Given the description of an element on the screen output the (x, y) to click on. 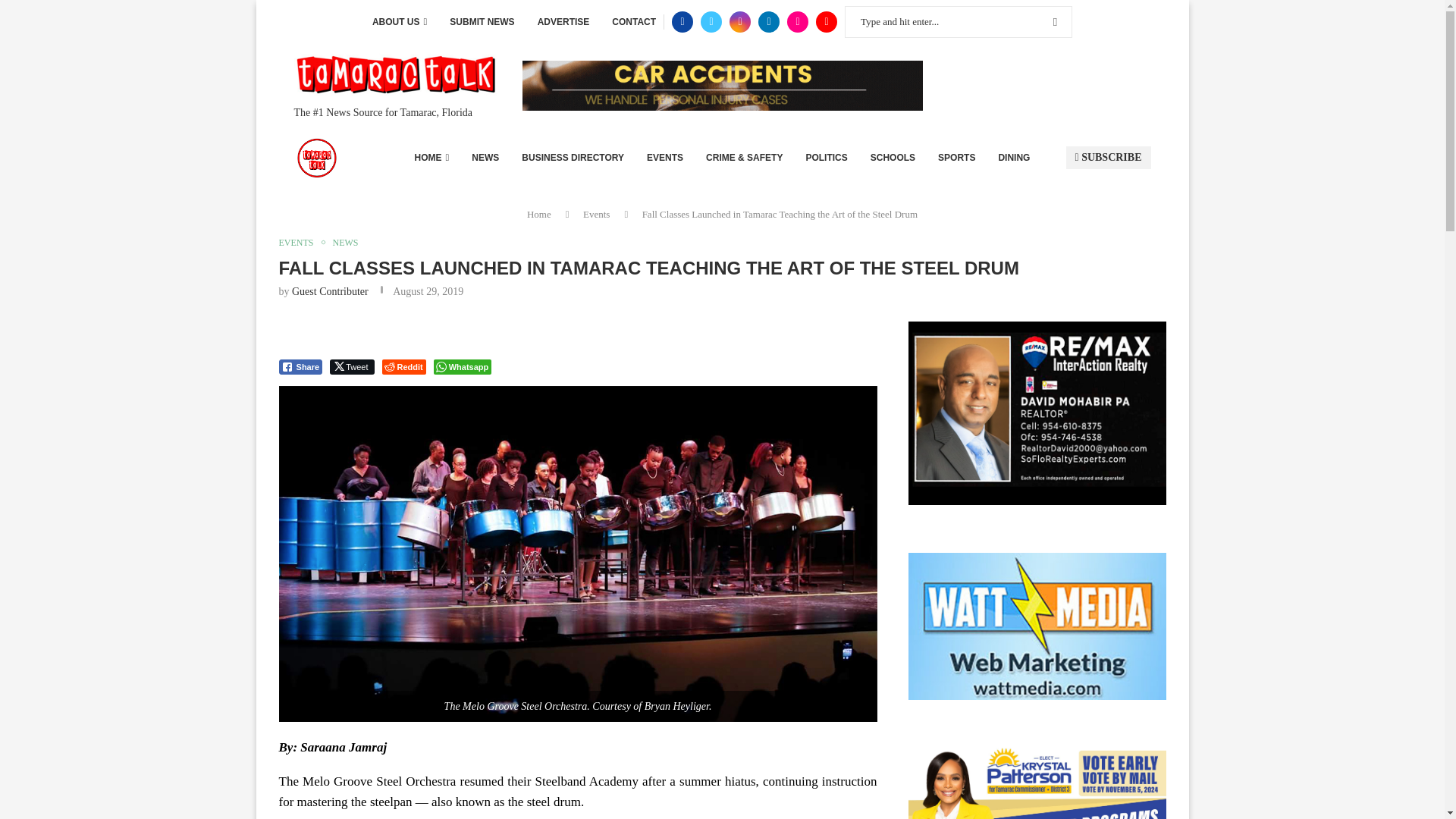
ABOUT US (399, 22)
BUSINESS DIRECTORY (572, 157)
SUBSCRIBE (1108, 157)
ADVERTISE (563, 22)
SCHOOLS (892, 157)
CONTACT (633, 22)
POLITICS (826, 157)
SUBMIT NEWS (481, 22)
